Given the description of an element on the screen output the (x, y) to click on. 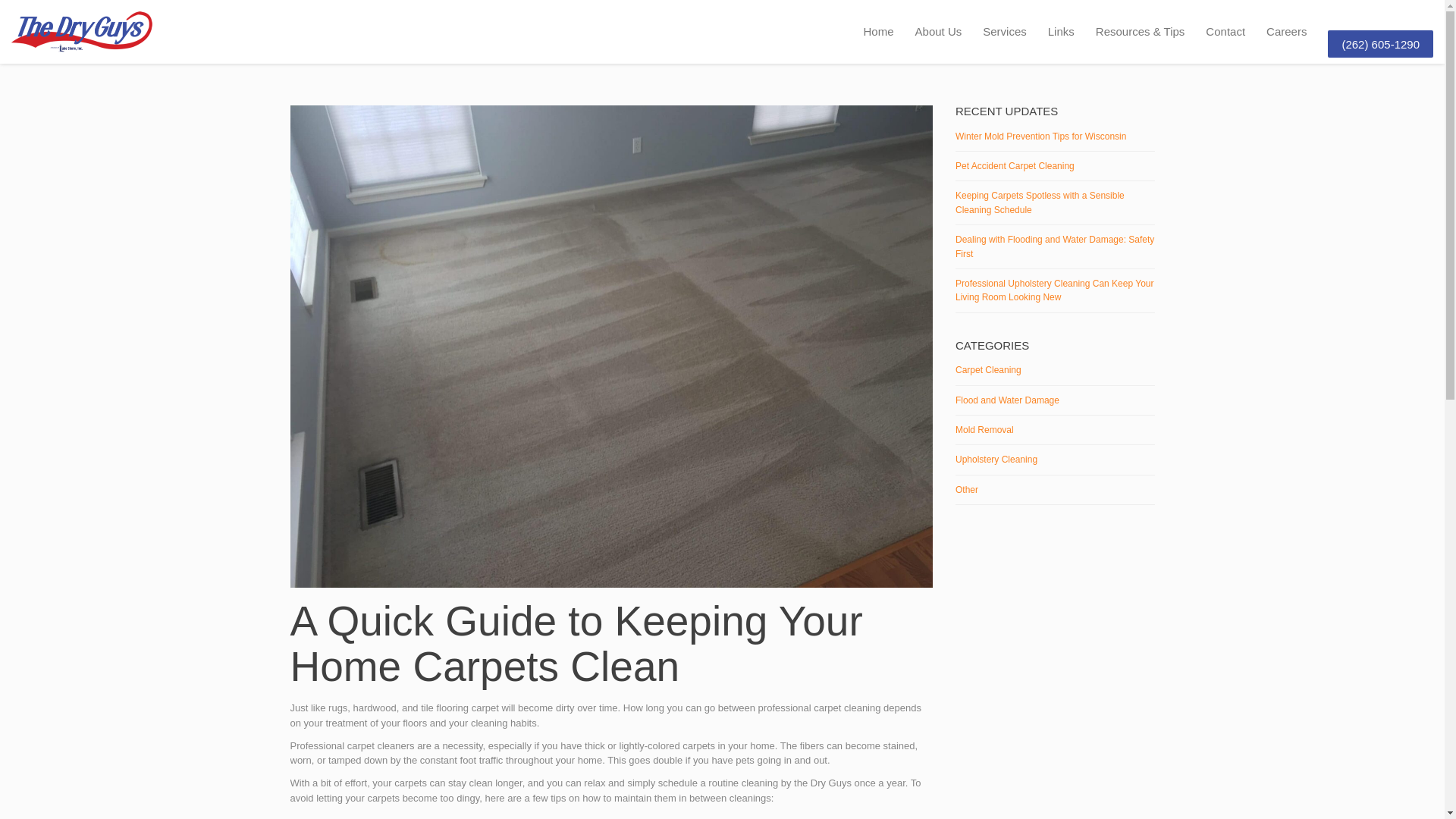
Contact (1225, 31)
About Us (938, 31)
Services (1004, 31)
Careers (1286, 31)
